Given the description of an element on the screen output the (x, y) to click on. 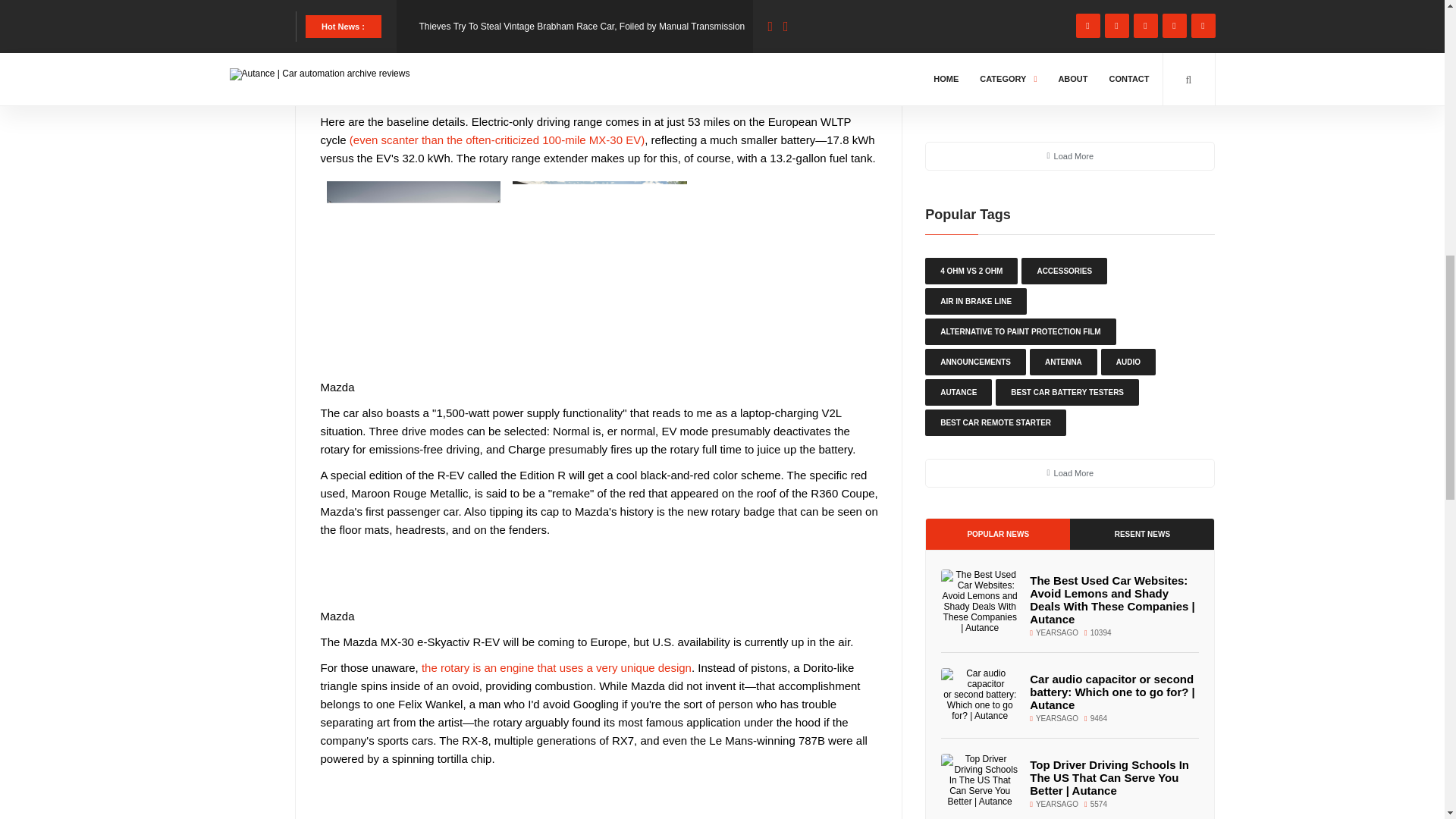
stories (518, 59)
PRINT (802, 9)
the rotary is an engine that uses a very unique design (556, 667)
Mazda (488, 77)
